Given the description of an element on the screen output the (x, y) to click on. 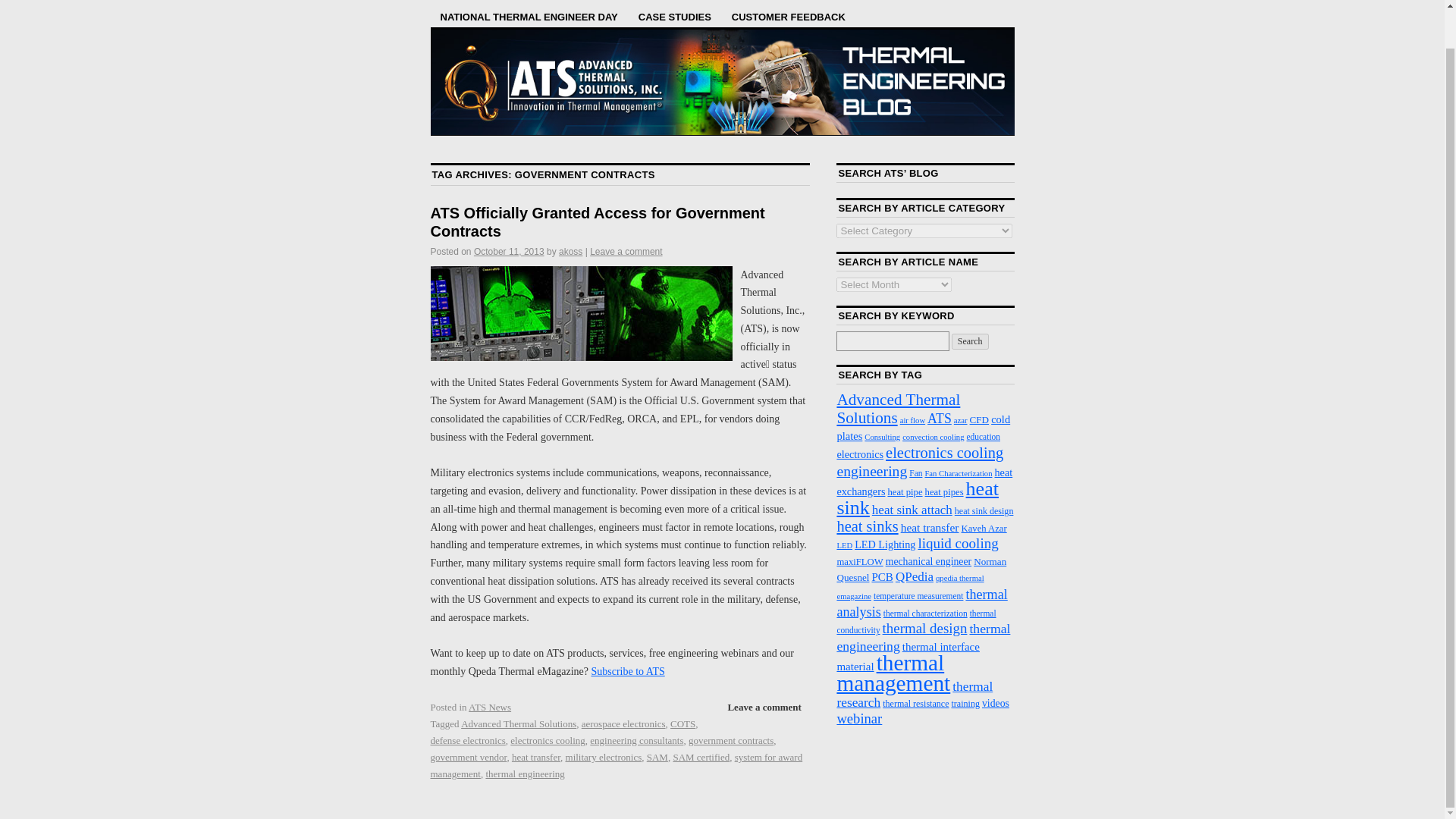
View all posts by akoss (570, 251)
4:11 pm (509, 251)
Search (970, 341)
ABOUT (741, 2)
FOLLOW ATS (670, 2)
TECHNICAL RESOURCES (840, 2)
ATS PRODUCTS (580, 2)
ATS HOME PAGE (480, 2)
